Given the description of an element on the screen output the (x, y) to click on. 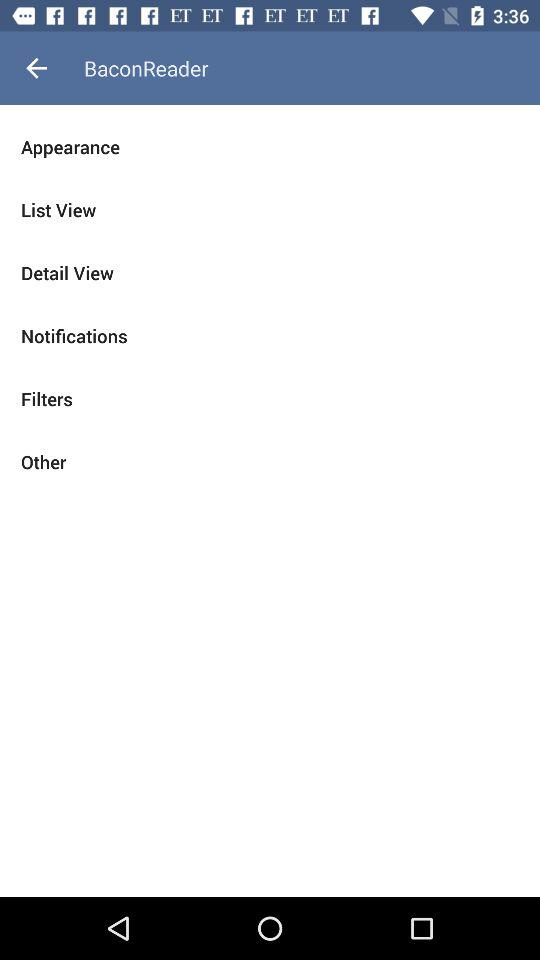
turn on the filters (270, 398)
